Given the description of an element on the screen output the (x, y) to click on. 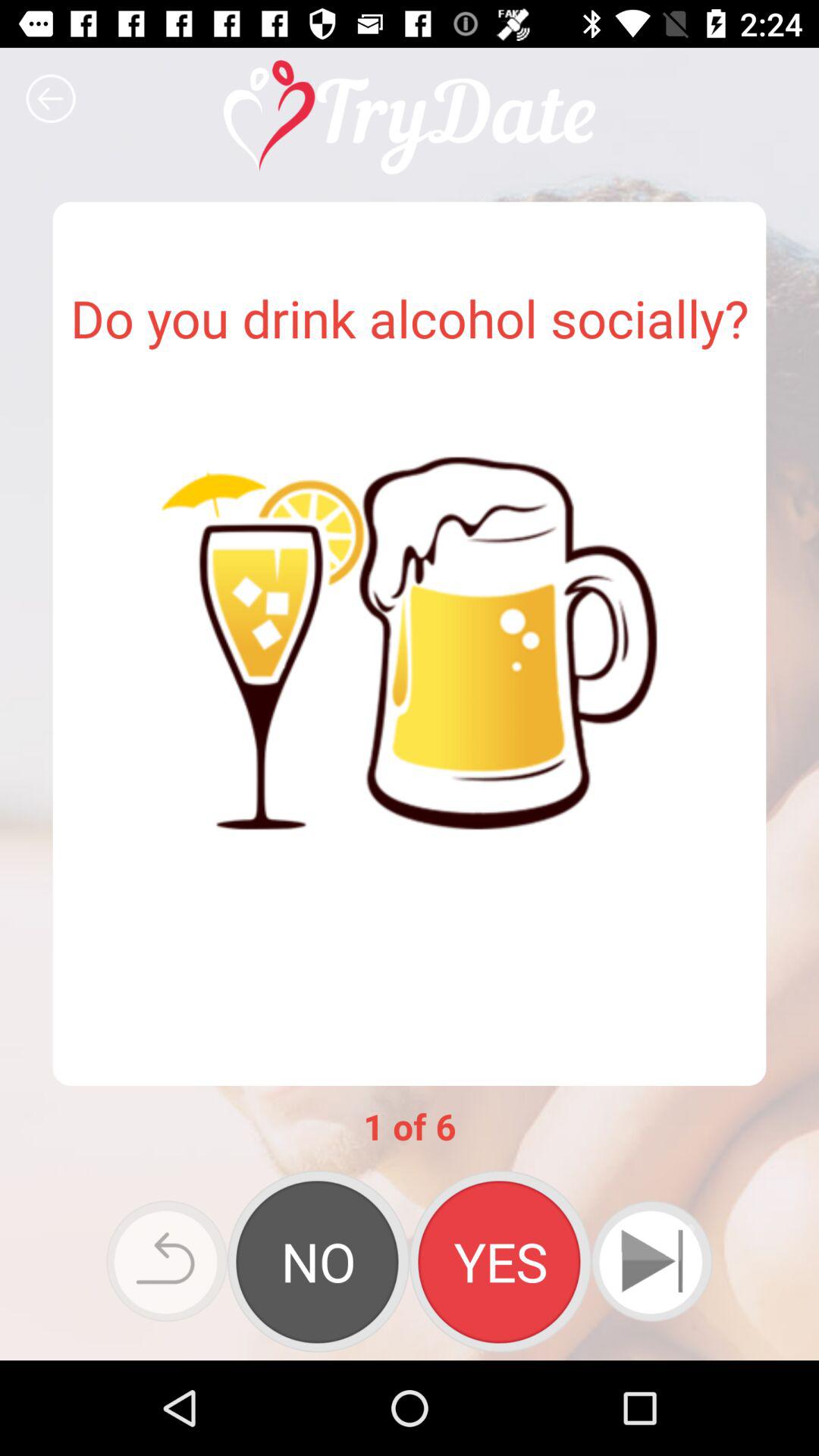
next button (651, 1260)
